Given the description of an element on the screen output the (x, y) to click on. 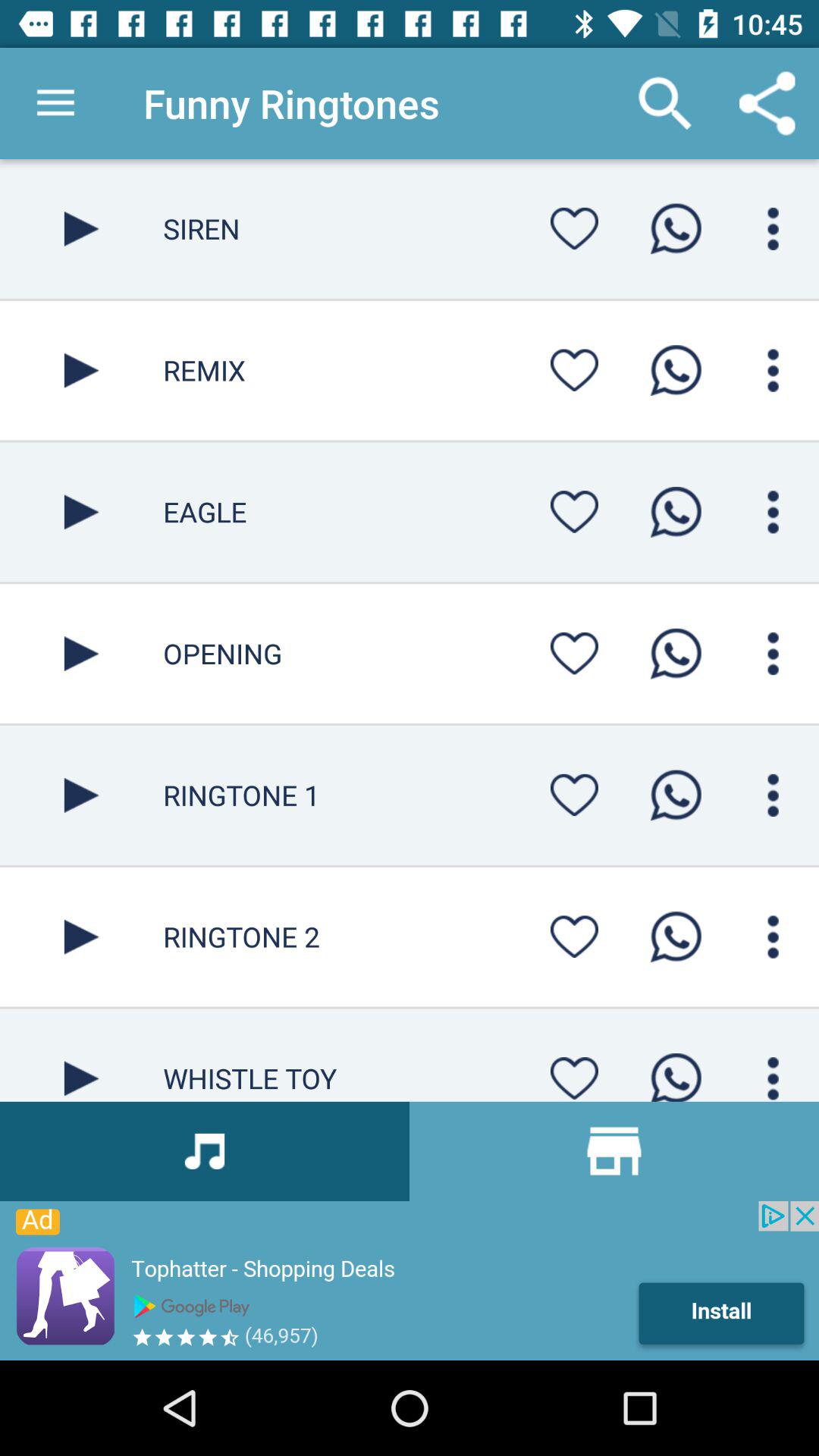
play audio or video (81, 511)
